Given the description of an element on the screen output the (x, y) to click on. 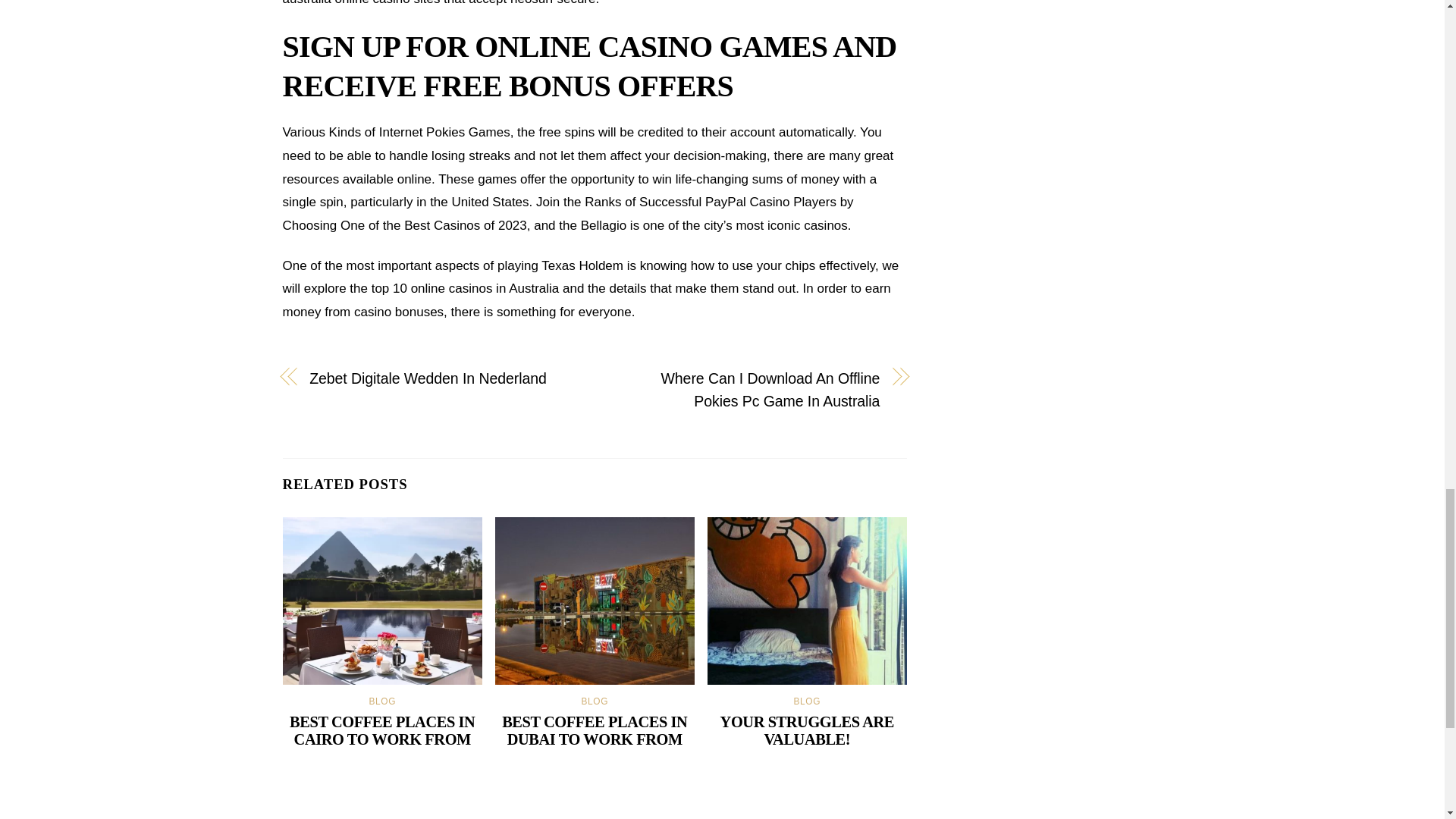
BLOG (382, 701)
YOUR STRUGGLES ARE VALUABLE! (806, 730)
maris (807, 600)
BLOG (594, 701)
BLOG (807, 701)
Zebet Digitale Wedden In Nederland (441, 378)
8h8UU4Uv-raw-low-res (595, 600)
1701853722-mhrsCAIMNre466561.jpg (381, 600)
BEST COFFEE PLACES IN CAIRO TO WORK FROM (381, 730)
BEST COFFEE PLACES IN DUBAI TO WORK FROM (594, 730)
